Given the description of an element on the screen output the (x, y) to click on. 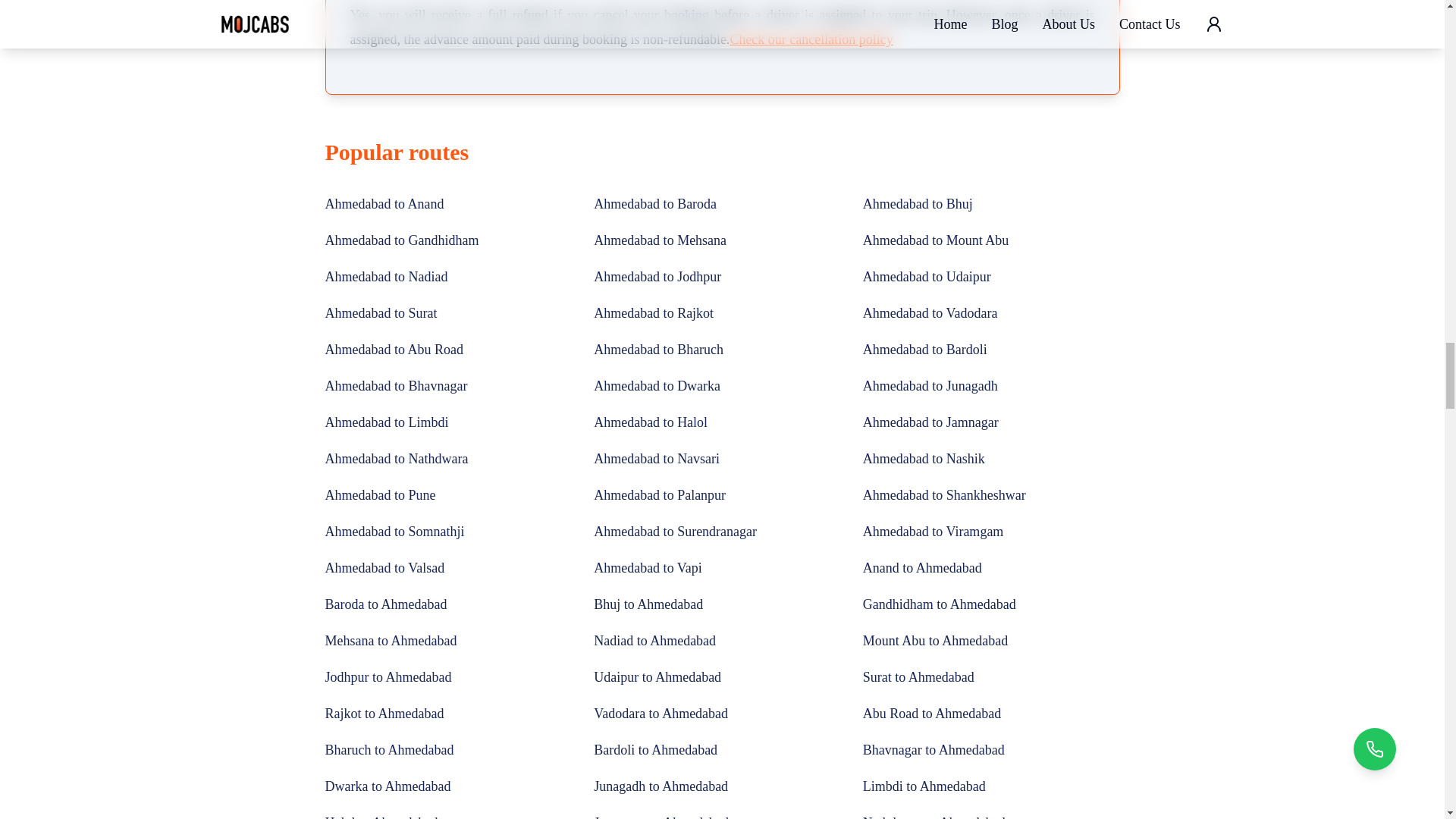
Ahmedabad to Vadodara (930, 313)
Check our cancellation policy (810, 38)
Ahmedabad to Bhavnagar (395, 385)
Ahmedabad to Anand (384, 203)
Ahmedabad to Mount Abu (936, 240)
Ahmedabad to Abu Road (393, 349)
Ahmedabad to Jodhpur (657, 276)
Ahmedabad to Surat (380, 313)
Ahmedabad to Baroda (655, 203)
Ahmedabad to Udaipur (927, 276)
Ahmedabad to Gandhidham (401, 240)
Ahmedabad to Bardoli (925, 349)
Ahmedabad to Bharuch (658, 349)
Ahmedabad to Nadiad (385, 276)
Ahmedabad to Mehsana (660, 240)
